Given the description of an element on the screen output the (x, y) to click on. 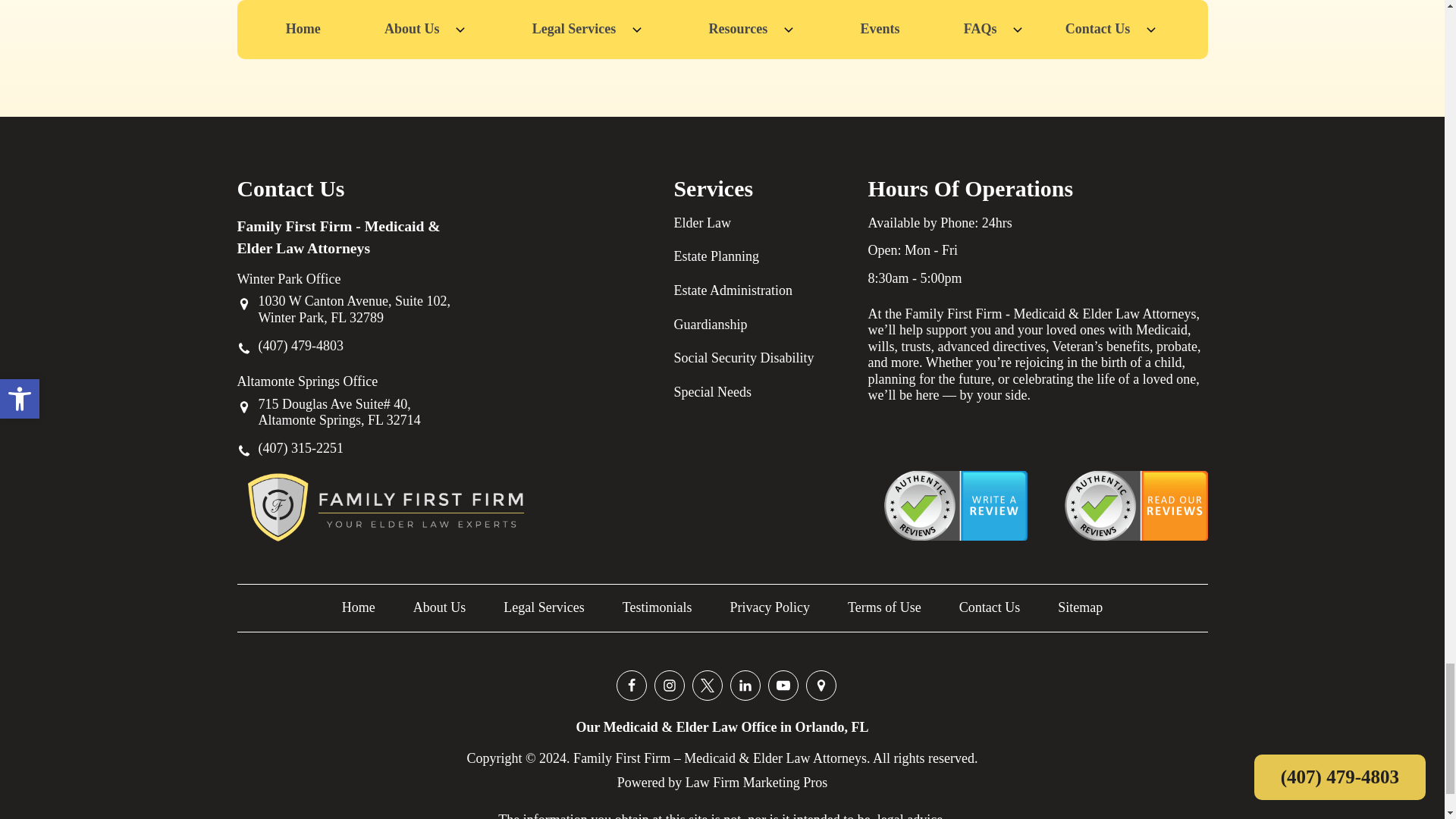
Get It Now (721, 18)
